Given the description of an element on the screen output the (x, y) to click on. 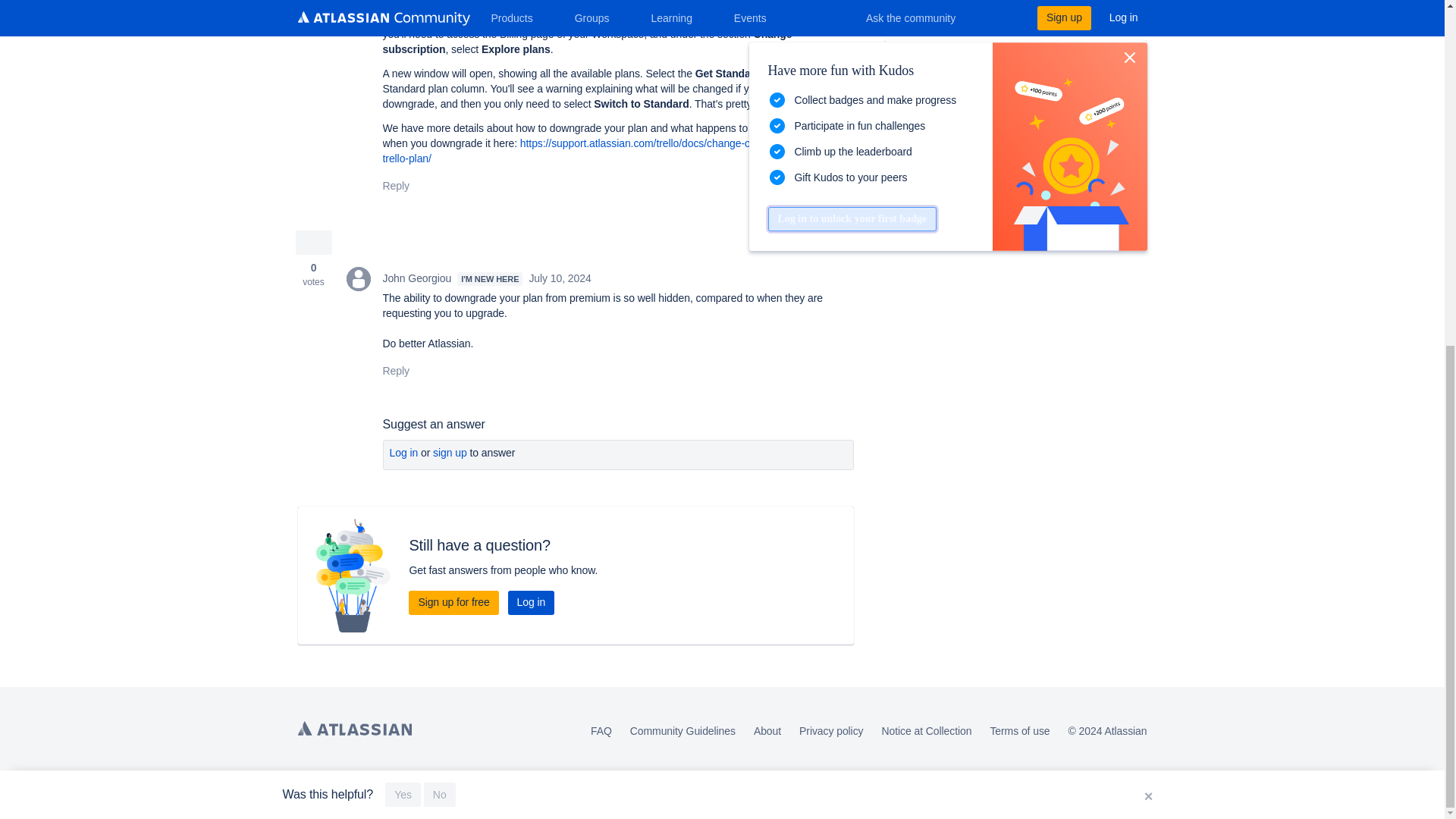
AUG Leaders (911, 61)
Sal (357, 6)
John Georgiou (357, 278)
